Given the description of an element on the screen output the (x, y) to click on. 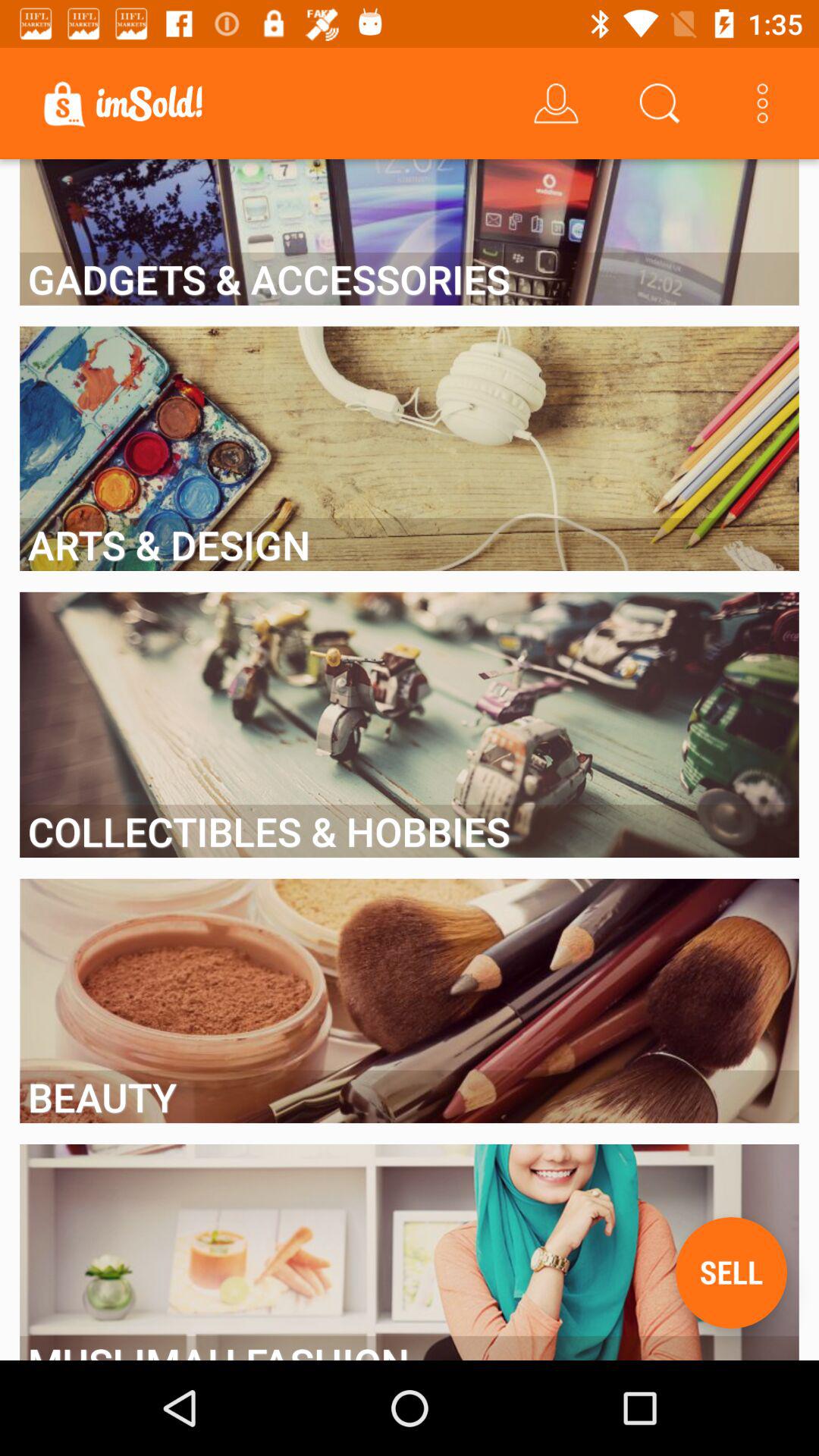
tap arts & design item (409, 544)
